Given the description of an element on the screen output the (x, y) to click on. 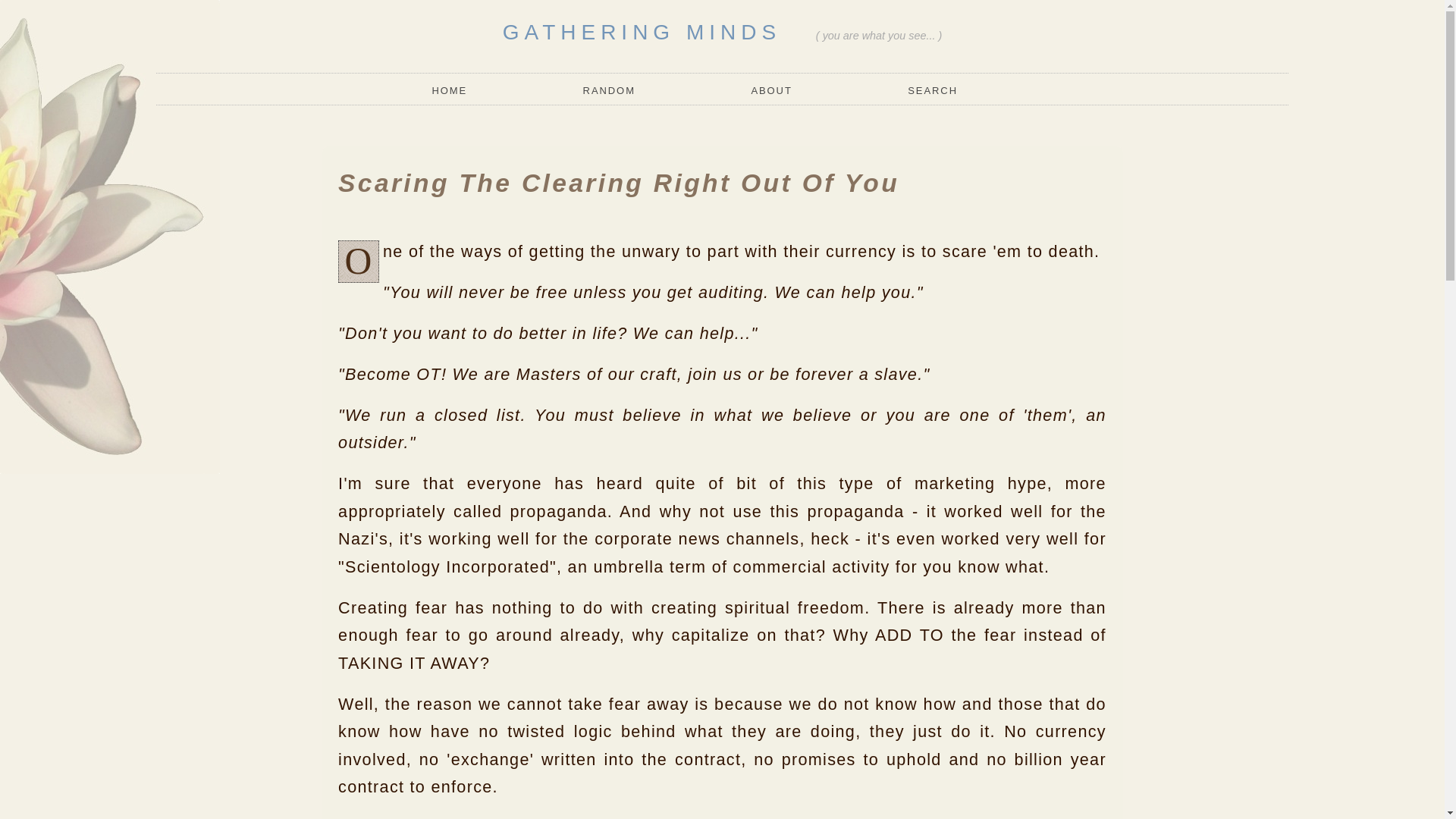
search (932, 91)
GATHERING MINDS (641, 32)
home (454, 91)
random (609, 91)
about (771, 91)
